Given the description of an element on the screen output the (x, y) to click on. 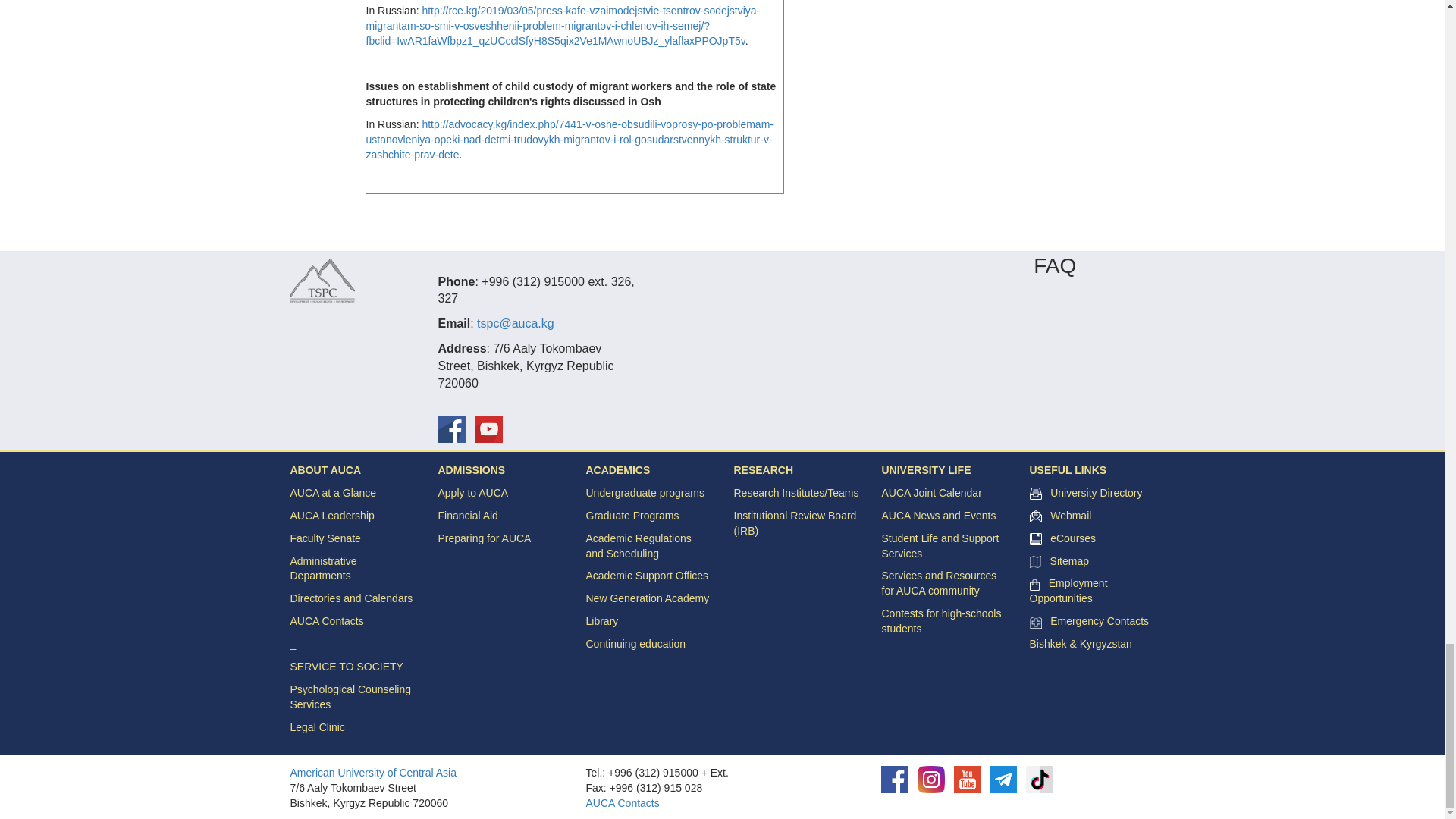
Flickr (930, 779)
Facebook (894, 779)
Facebook (451, 429)
You Tube (489, 429)
You Tube (967, 779)
